Given the description of an element on the screen output the (x, y) to click on. 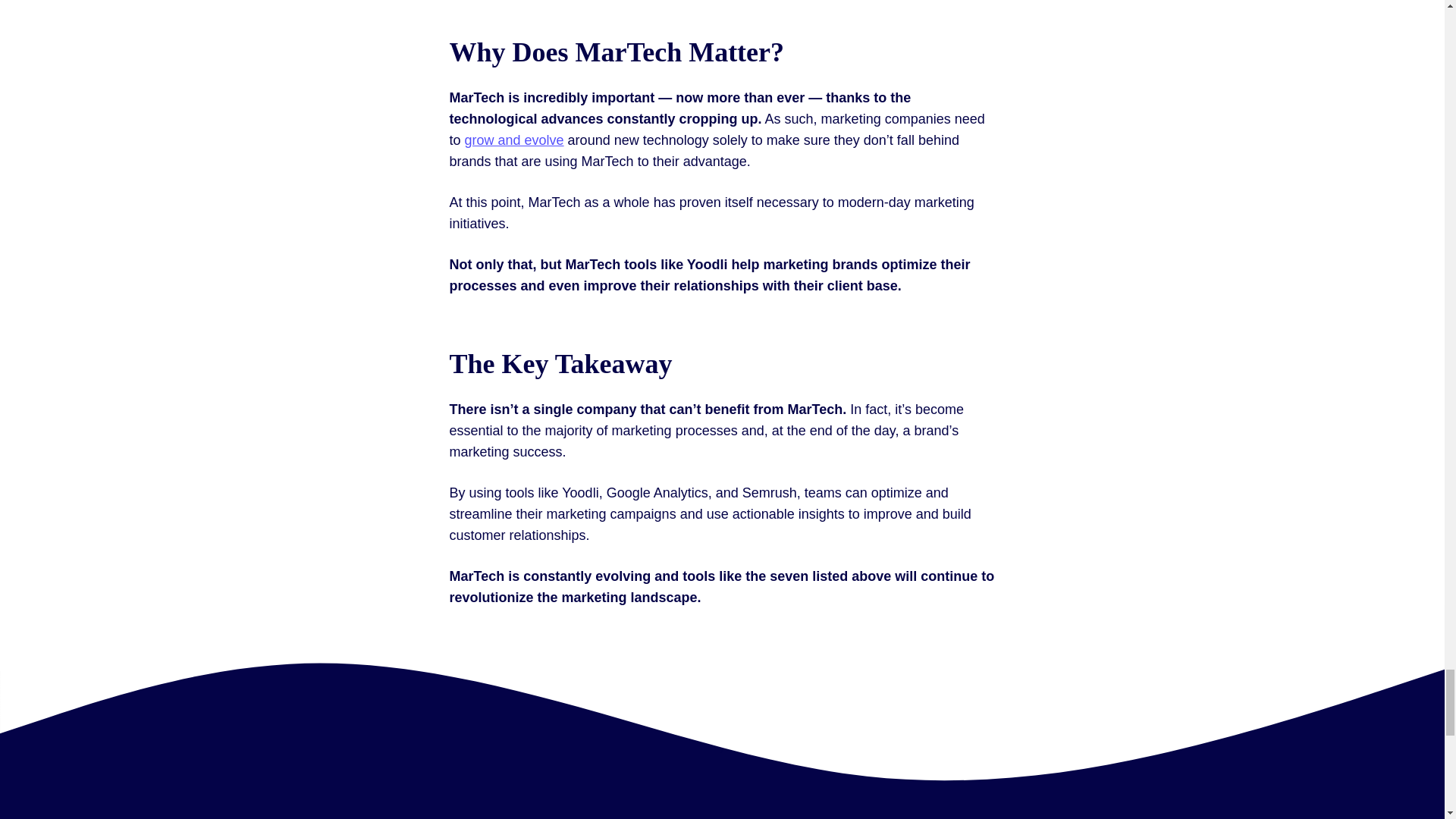
grow and evolve (514, 140)
